Given the description of an element on the screen output the (x, y) to click on. 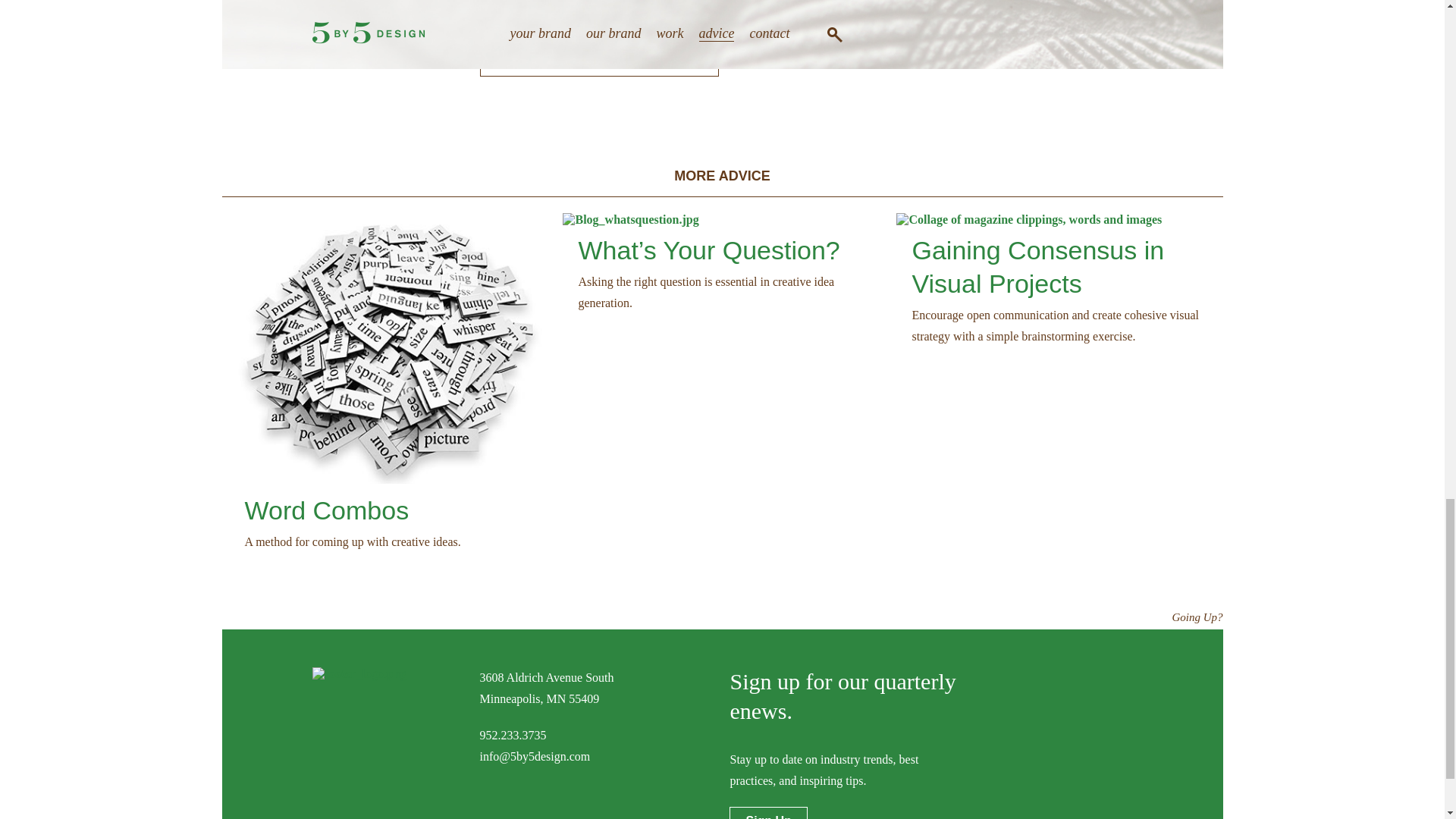
Going Up? (1181, 617)
MORE ADVICE (722, 175)
952.233.3735 (512, 735)
Word Combos (326, 510)
Did this spark an idea? Let's talk! (599, 61)
Gaining Consensus in Visual Projects (1037, 266)
Going Up? (1181, 617)
